Given the description of an element on the screen output the (x, y) to click on. 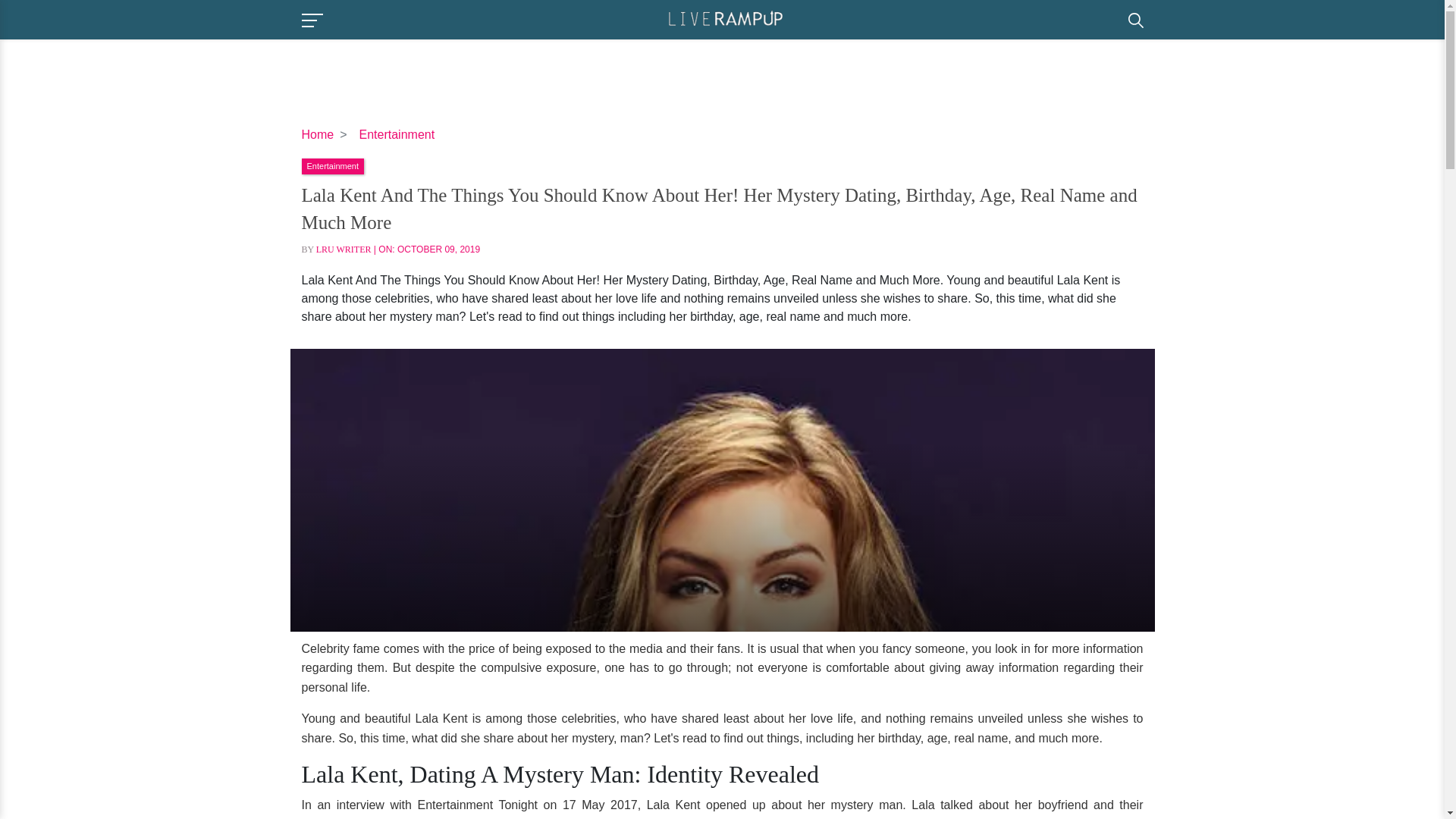
Entertainment (332, 164)
LRU WRITER (343, 249)
Entertainment (397, 133)
Liverampup (725, 17)
Home (317, 133)
